Given the description of an element on the screen output the (x, y) to click on. 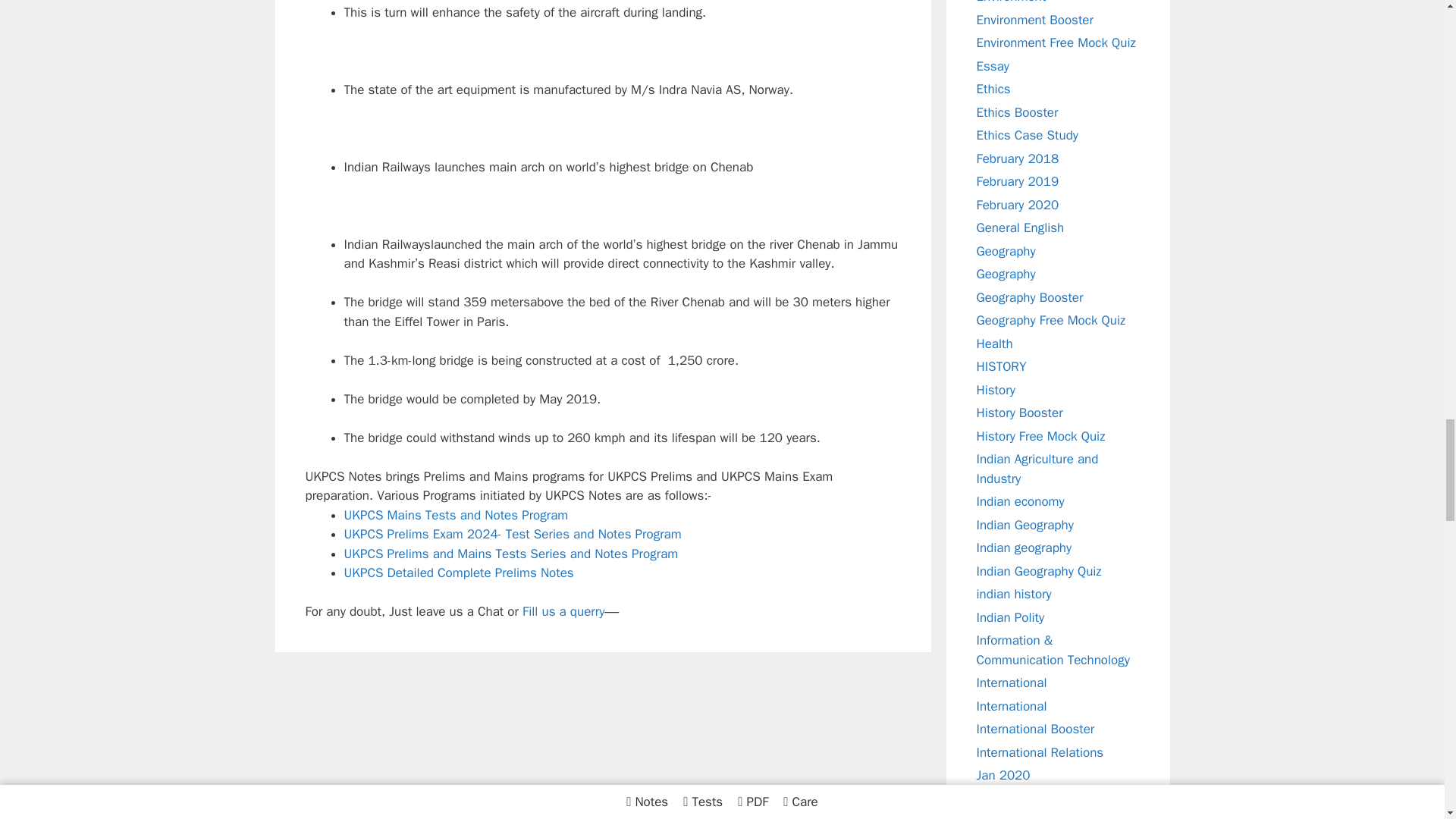
UKPCS Mains Tests and Notes Program (456, 514)
UKPCS Prelims and Mains Tests Series and Notes Program (510, 553)
UKPCS Prelims Exam 2024- Test Series and Notes Program (512, 534)
